Given the description of an element on the screen output the (x, y) to click on. 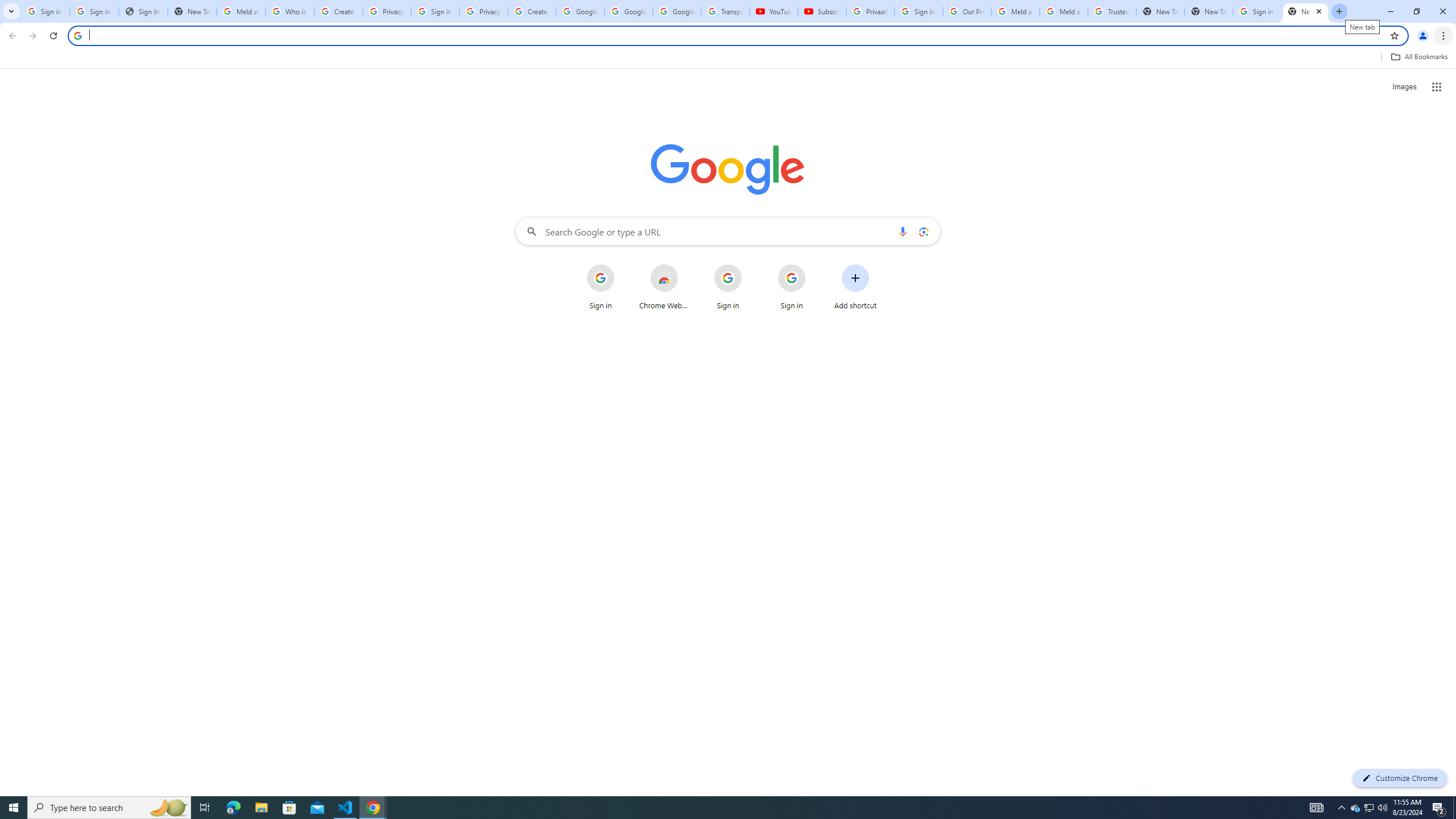
Create your Google Account (532, 11)
Sign in - Google Accounts (918, 11)
Sign in - Google Accounts (1257, 11)
Search Google or type a URL (727, 230)
